Given the description of an element on the screen output the (x, y) to click on. 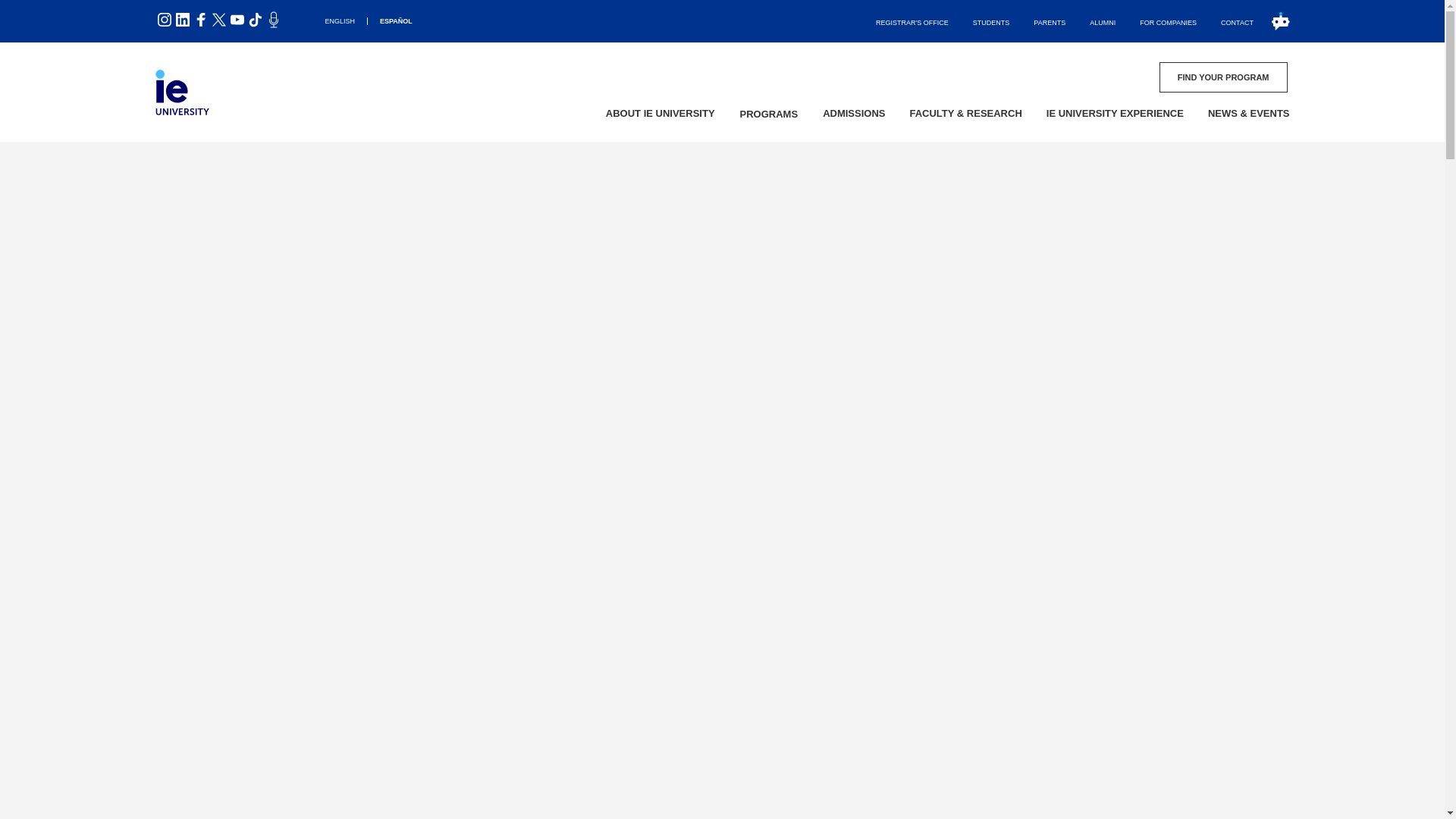
TWITTER (199, 19)
YOUTUBE (218, 19)
PODCAST (218, 19)
PROGRAMS (236, 19)
Chatbot. It will open in a new tab (272, 19)
LINKEDIN (769, 115)
CONTACT (1271, 21)
TIKTOK (181, 19)
INSTAGRAM (1102, 21)
